Given the description of an element on the screen output the (x, y) to click on. 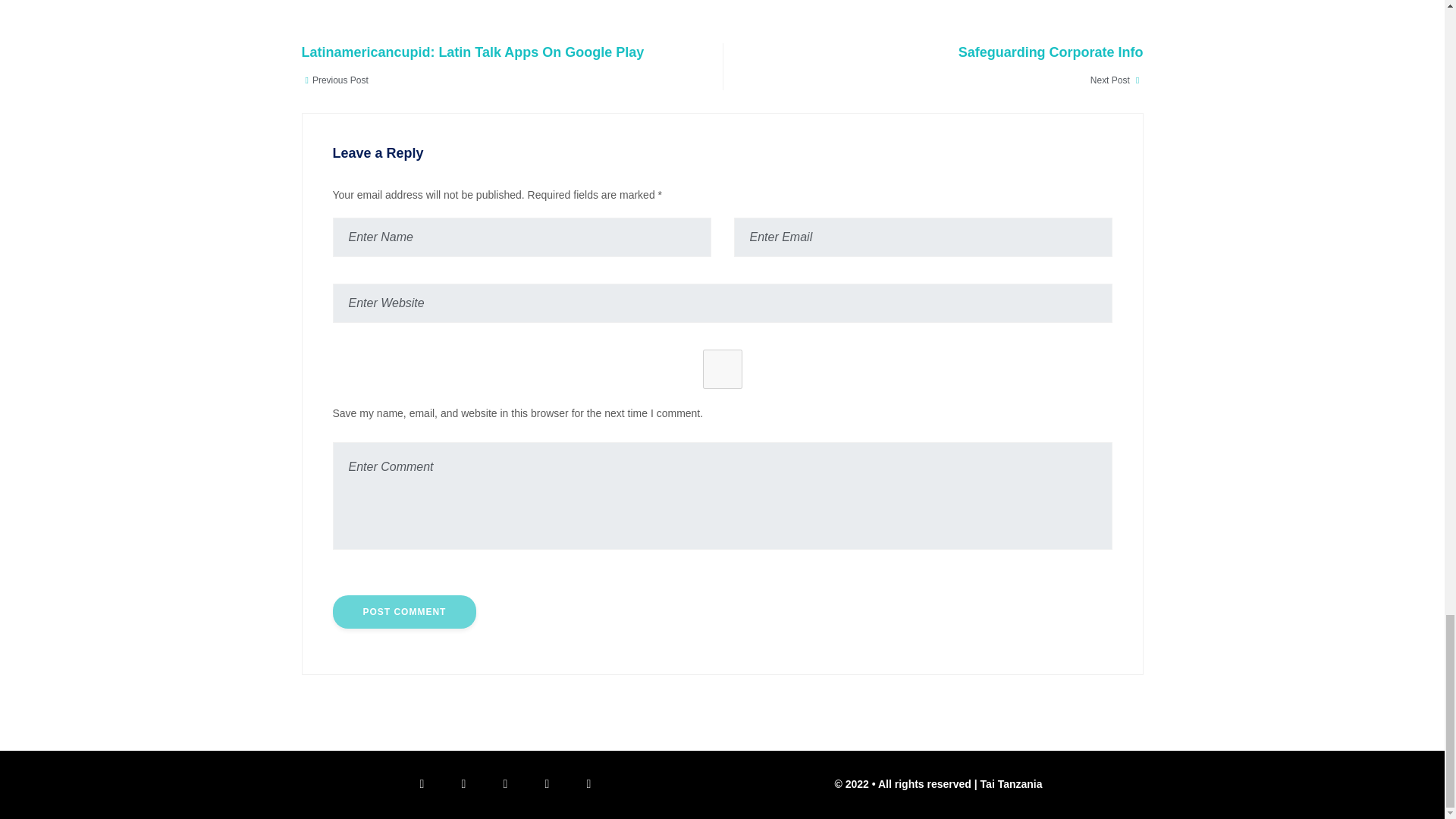
Post Comment (403, 611)
yes (721, 369)
Post Comment (403, 611)
